Given the description of an element on the screen output the (x, y) to click on. 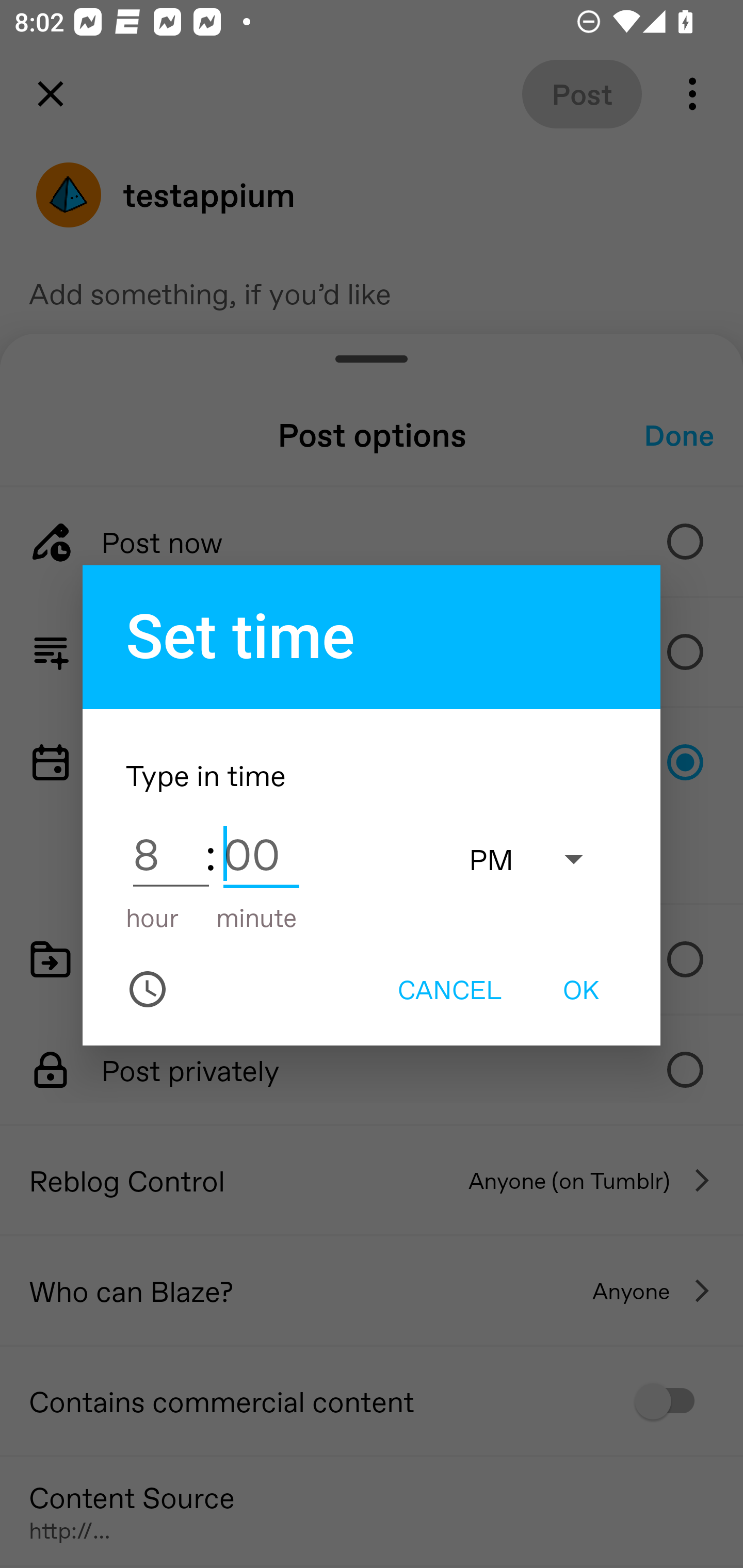
8 (170, 853)
00 (261, 853)
PM (535, 858)
CANCEL (449, 989)
OK (580, 989)
Switch to clock mode for the time input. (147, 989)
